Given the description of an element on the screen output the (x, y) to click on. 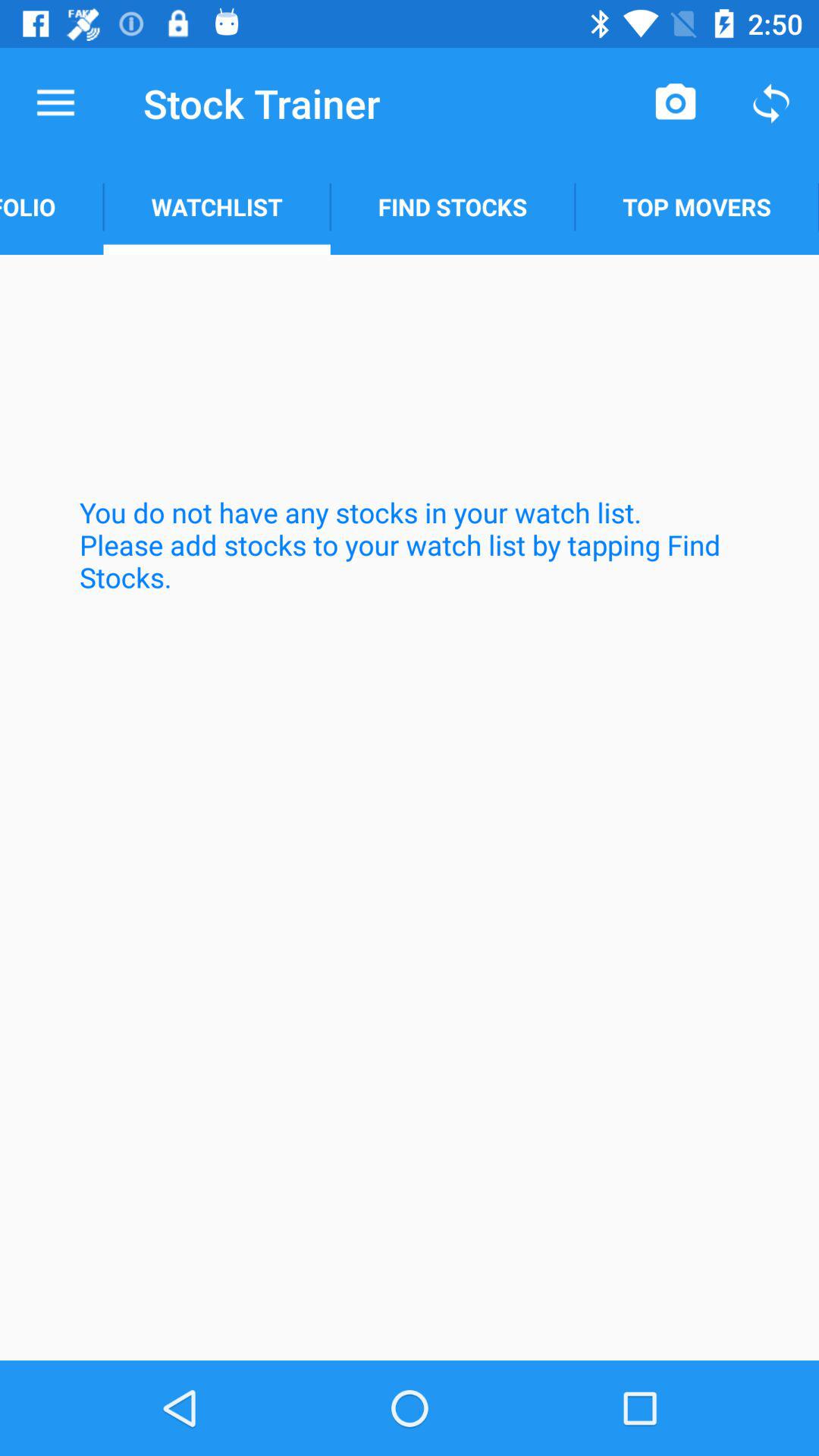
launch item next to watchlist app (51, 206)
